Given the description of an element on the screen output the (x, y) to click on. 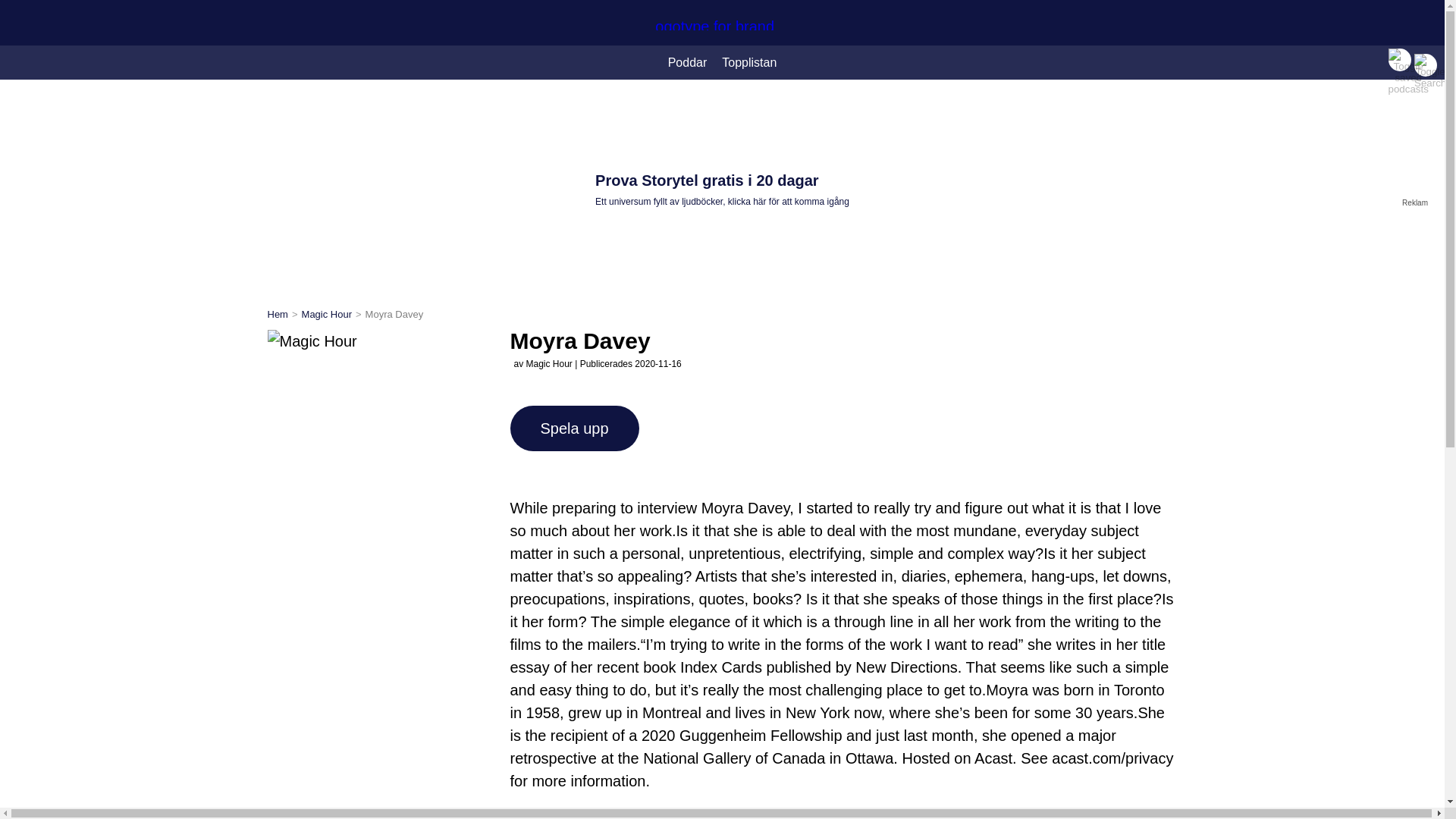
Topplistan (749, 61)
American users can also listen on our American site (379, 816)
Magic Hour (326, 314)
Poddar (687, 61)
Hem (276, 314)
Spela upp (574, 428)
